Given the description of an element on the screen output the (x, y) to click on. 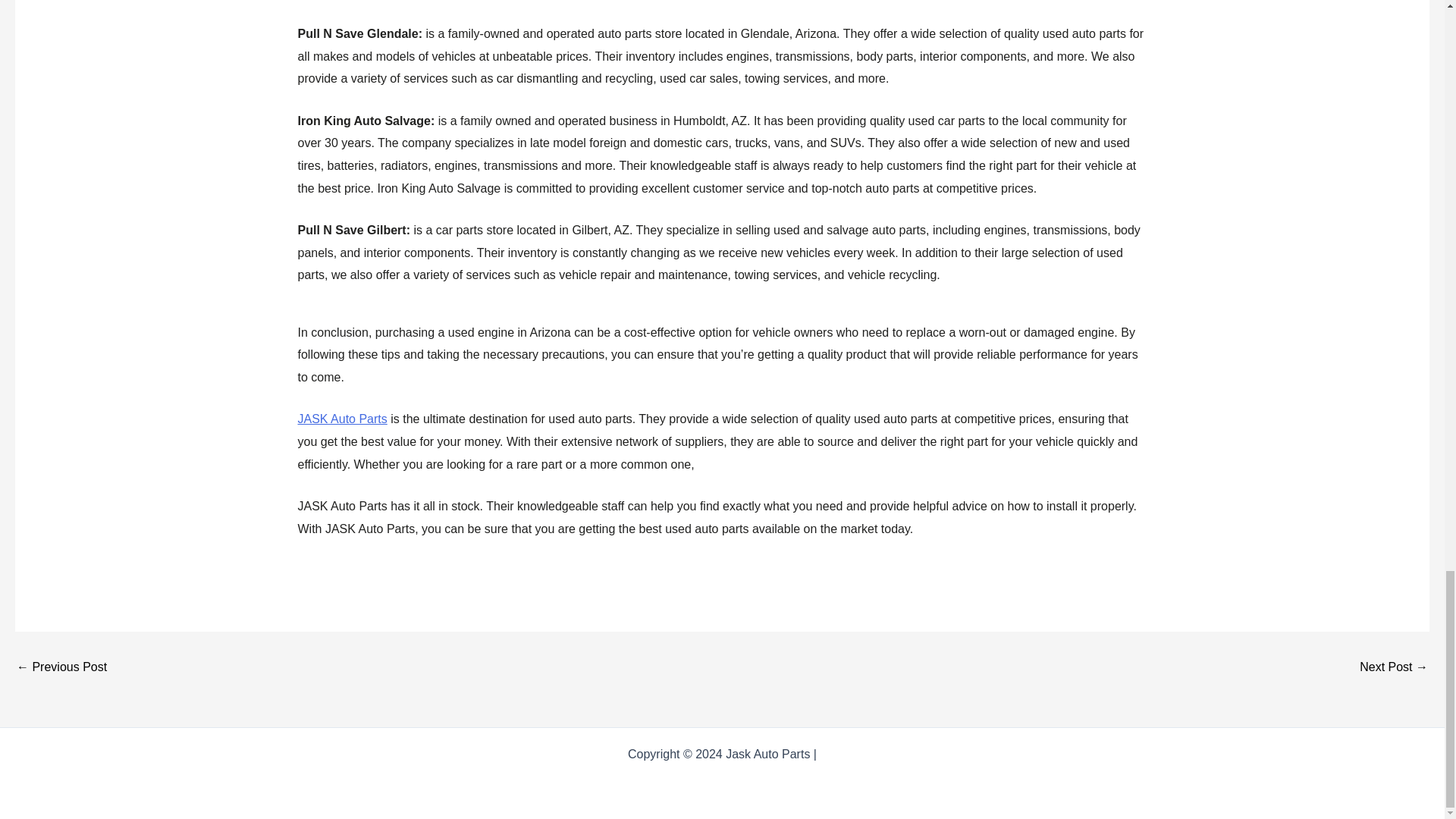
JASK Auto Parts (342, 418)
Best Way to Buy Used Engine in Arkansas (1393, 666)
Best Way to buy used engine in Alaska (61, 666)
